Given the description of an element on the screen output the (x, y) to click on. 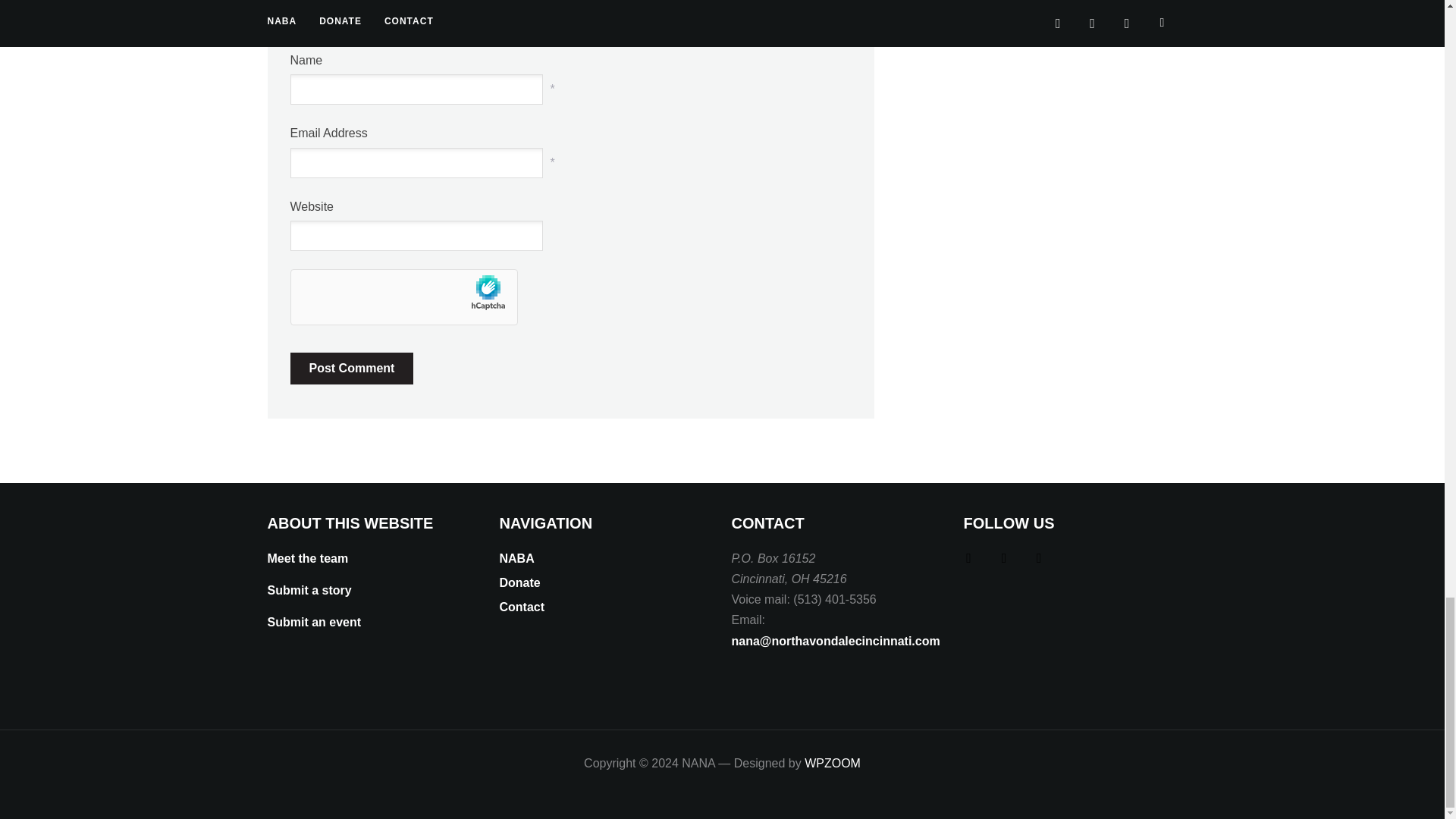
Instagram (1003, 556)
Twitter (968, 556)
Post Comment (351, 368)
